Given the description of an element on the screen output the (x, y) to click on. 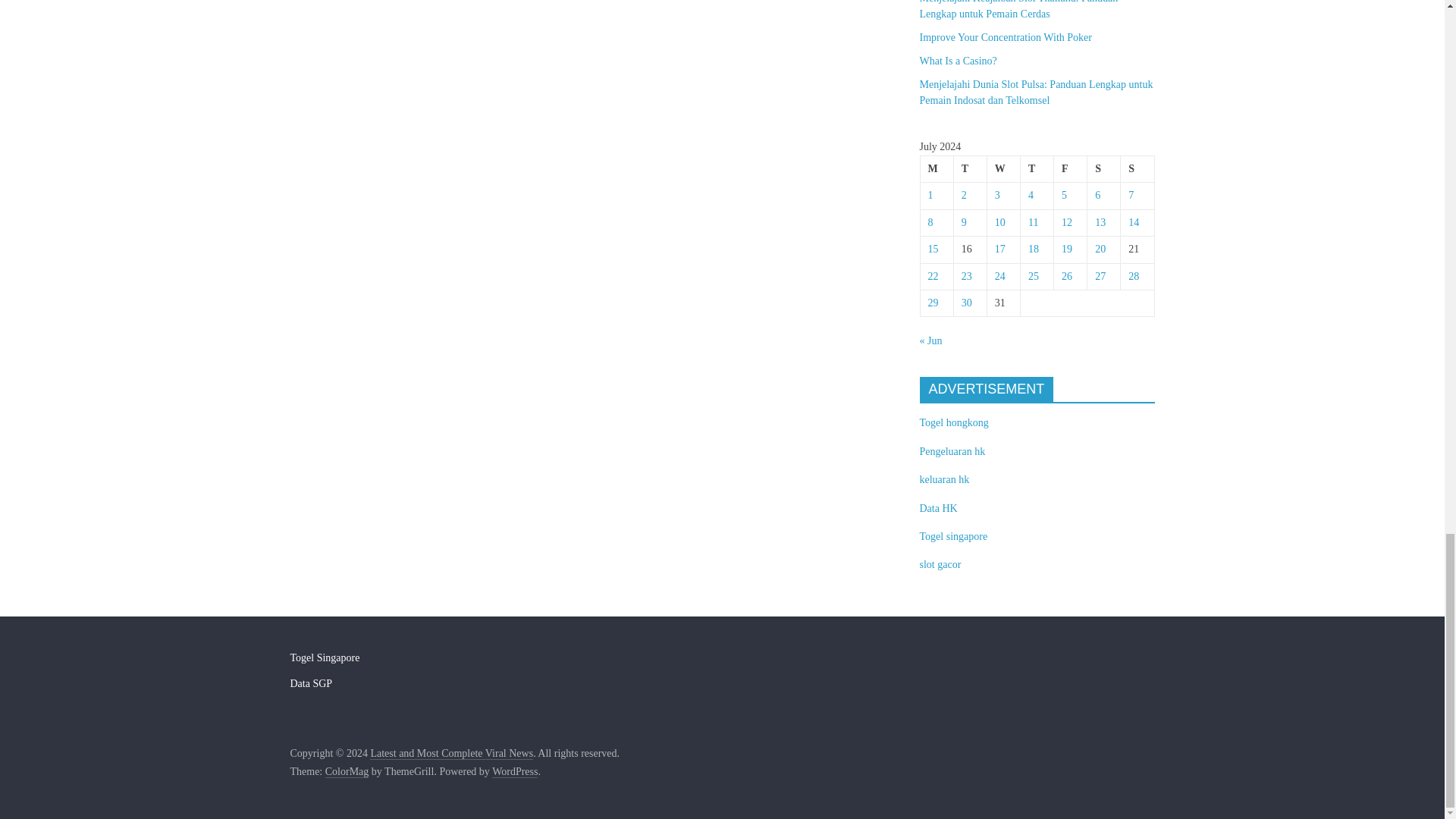
ColorMag (346, 771)
Saturday (1104, 169)
Sunday (1137, 169)
Tuesday (970, 169)
Friday (1070, 169)
Wednesday (1003, 169)
Latest and Most Complete Viral News (450, 753)
Thursday (1036, 169)
WordPress (514, 771)
Monday (936, 169)
